Given the description of an element on the screen output the (x, y) to click on. 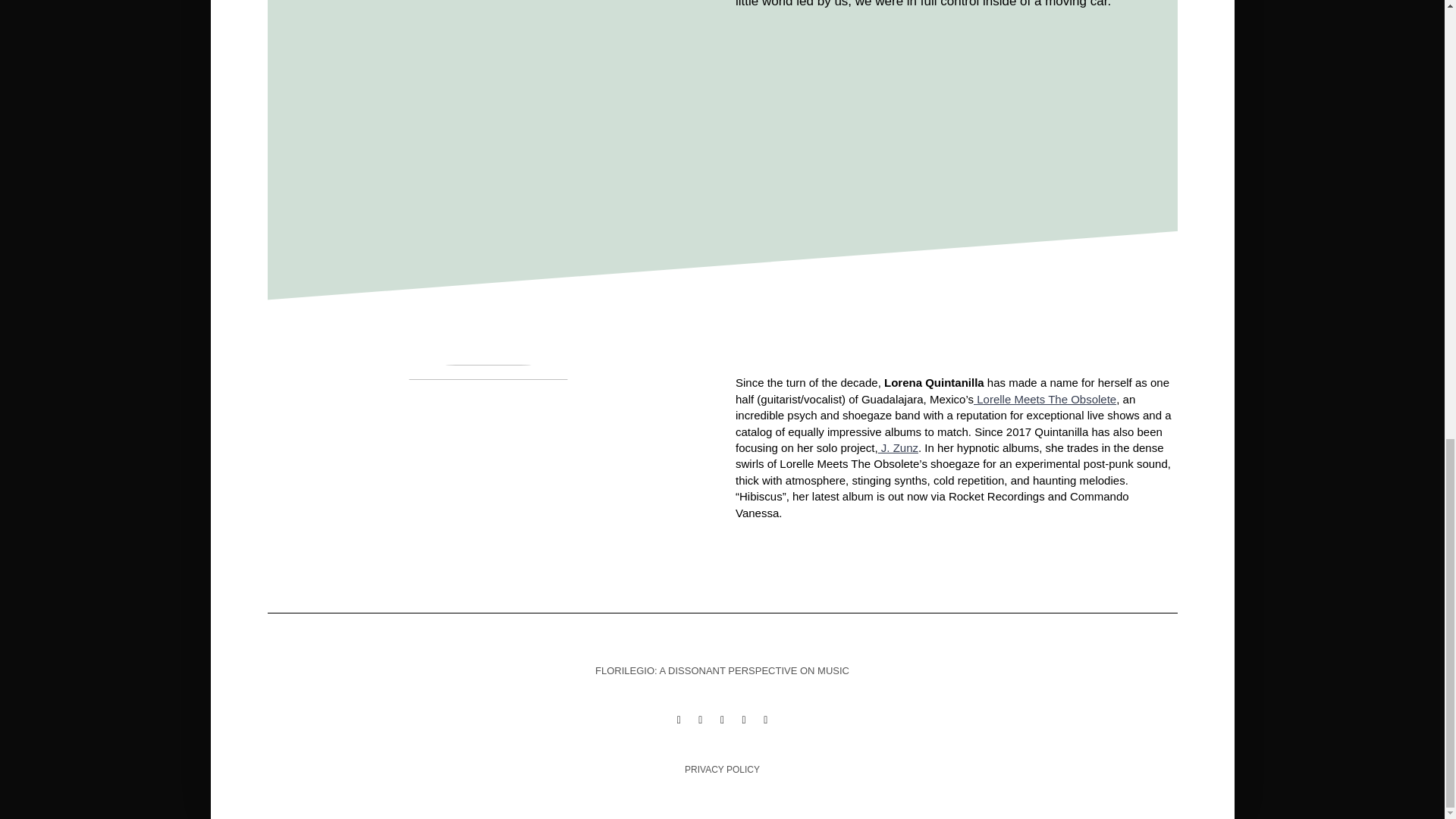
Lorelle Meets The Obsolete (1045, 399)
TWITTER (700, 719)
FACEBOOK (678, 719)
J. Zunz (897, 447)
YOUTUBE (744, 719)
PRIVACY POLICY (722, 769)
EMAIL (764, 719)
INSTAGRAM (722, 719)
